Given the description of an element on the screen output the (x, y) to click on. 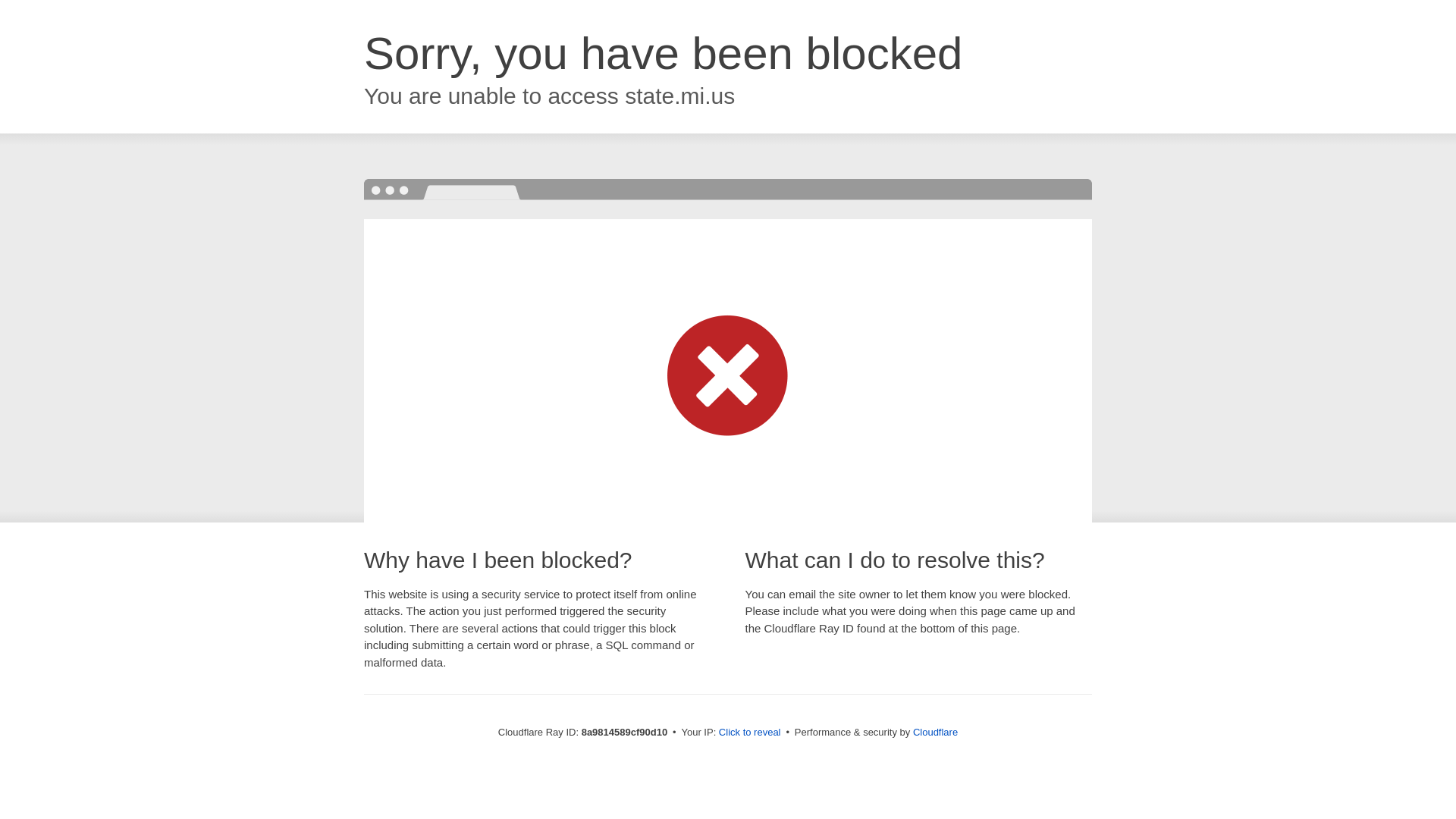
Click to reveal (749, 732)
Cloudflare (935, 731)
